Given the description of an element on the screen output the (x, y) to click on. 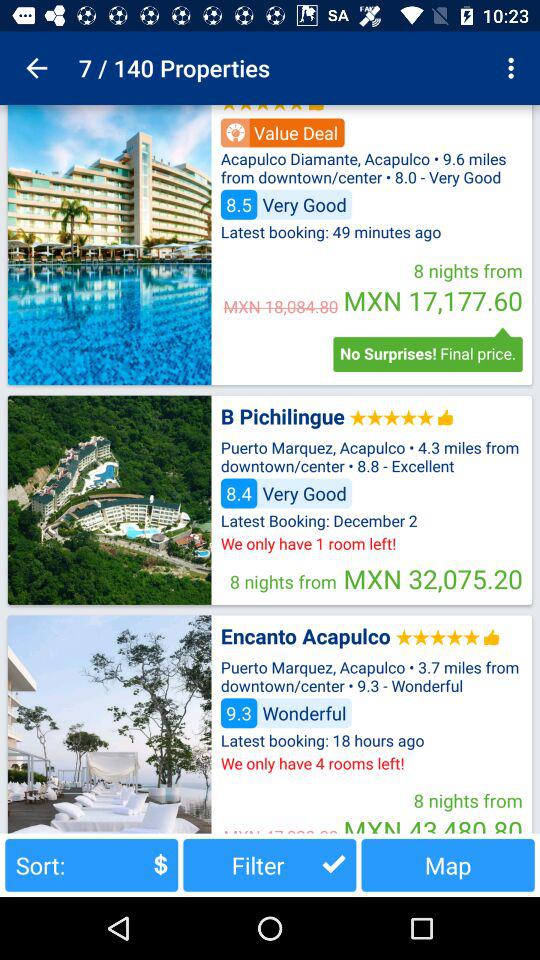
turn off the item to the left of the filter (91, 864)
